Given the description of an element on the screen output the (x, y) to click on. 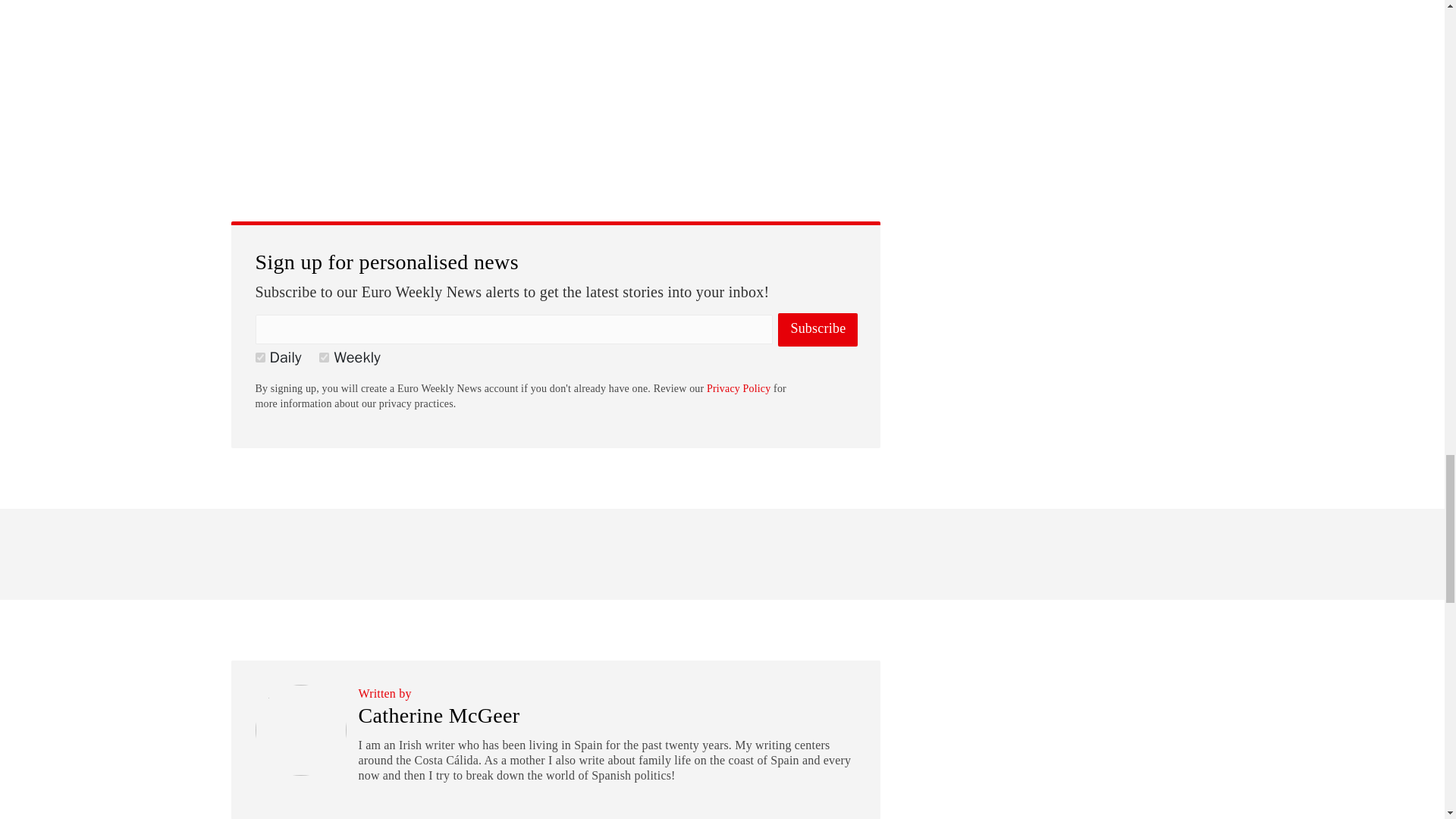
Subscribe (817, 329)
6 (259, 357)
7 (323, 357)
